Given the description of an element on the screen output the (x, y) to click on. 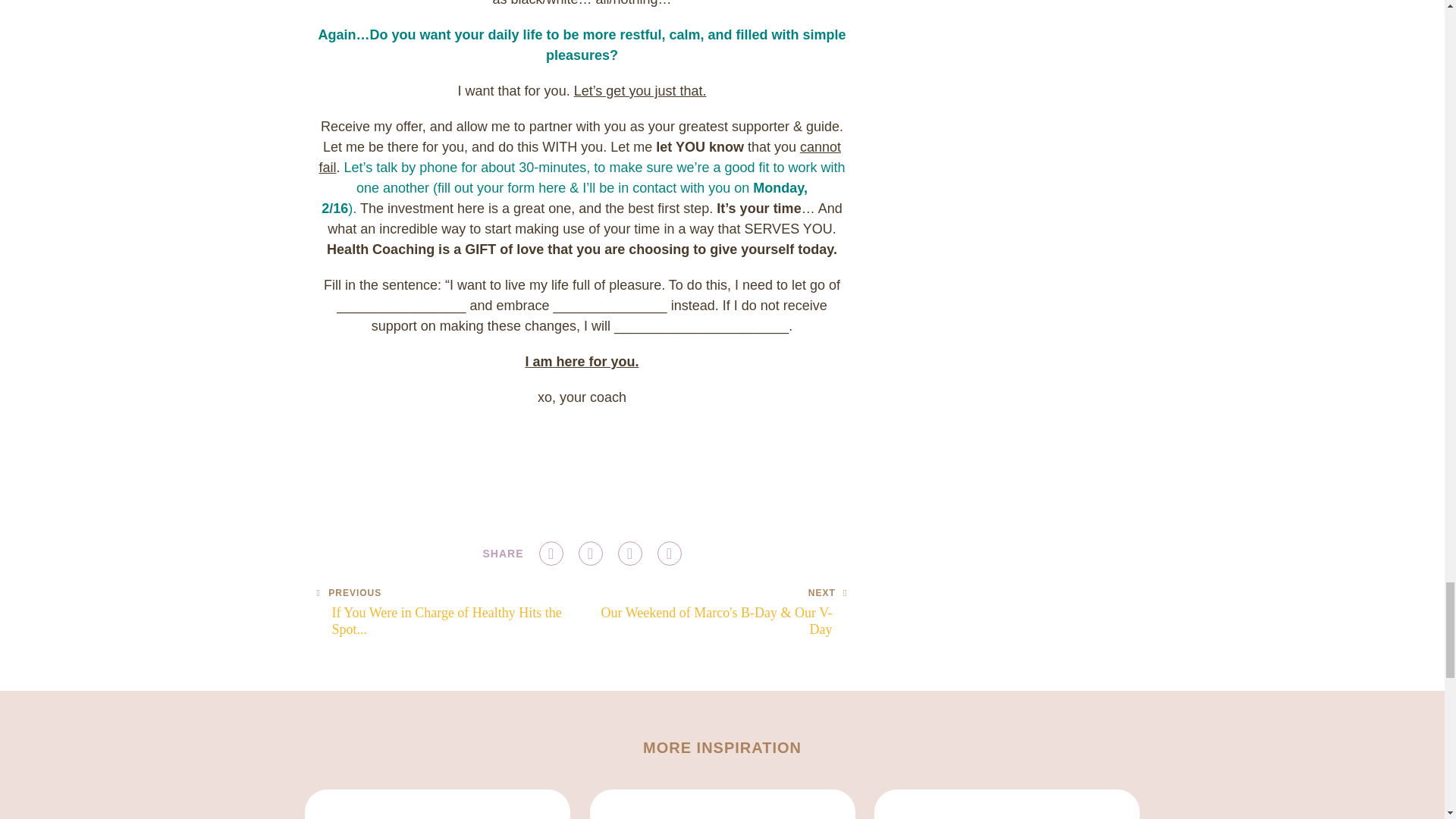
Share on Facebook (550, 553)
Share via E-mail (668, 553)
here (552, 187)
Share on Twitter (590, 553)
Share on Pinterest (449, 613)
